Given the description of an element on the screen output the (x, y) to click on. 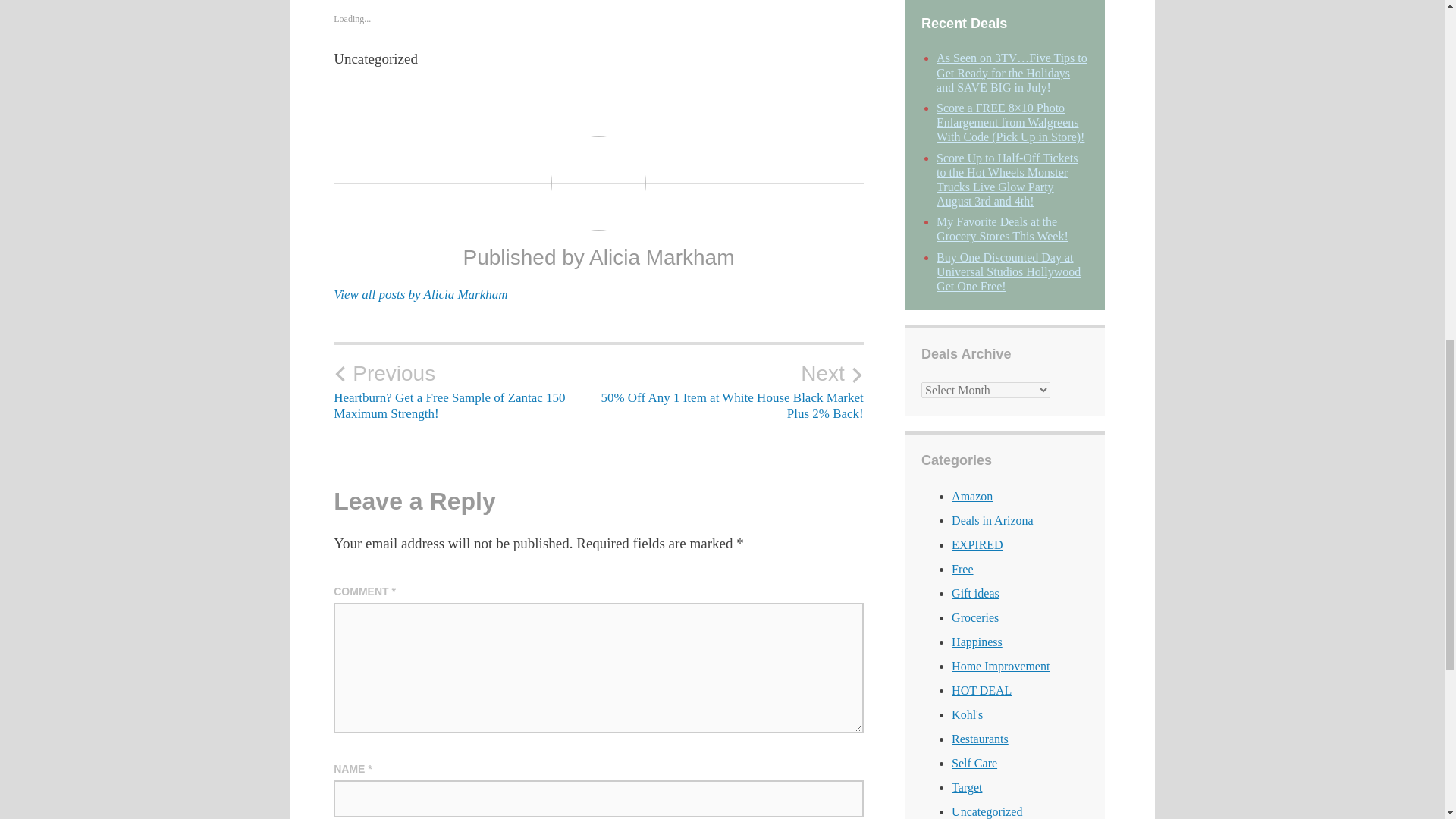
View all posts by Alicia Markham (419, 294)
Free (962, 568)
Deals in Arizona (992, 520)
My Favorite Deals at the Grocery Stores This Week! (1002, 228)
Kohl's (967, 714)
Happiness (977, 641)
Home Improvement (1000, 666)
Groceries (975, 617)
HOT DEAL (981, 689)
Amazon (972, 495)
Gift ideas (975, 593)
EXPIRED (977, 544)
